Given the description of an element on the screen output the (x, y) to click on. 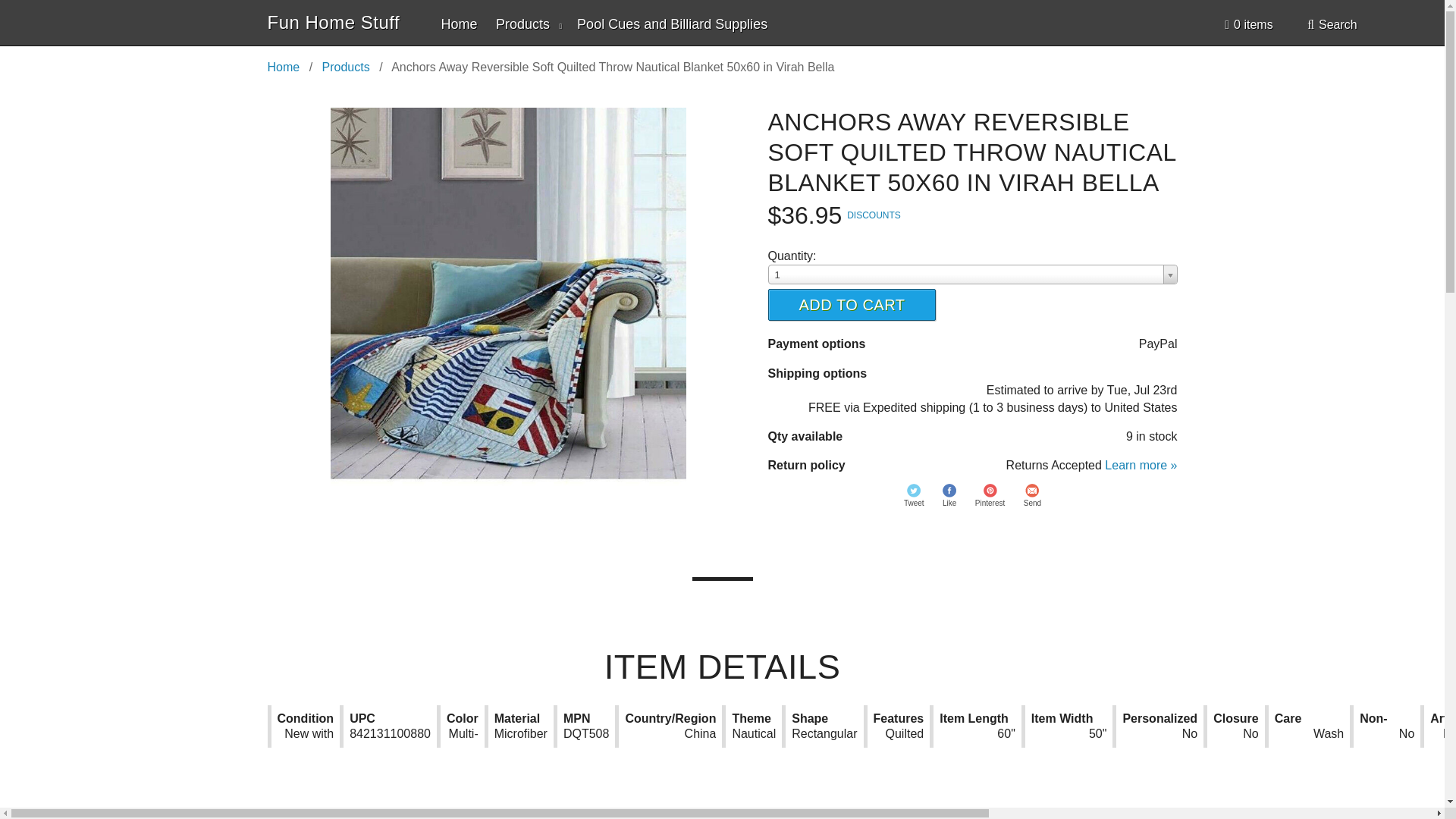
DISCOUNTS (874, 214)
Home (459, 24)
Products (345, 66)
Discounts (874, 214)
Products (529, 24)
0 items (1248, 24)
Search (1331, 24)
Home (282, 66)
Fun Home Stuff (332, 22)
Pool Cues and Billiard Supplies (671, 24)
